Given the description of an element on the screen output the (x, y) to click on. 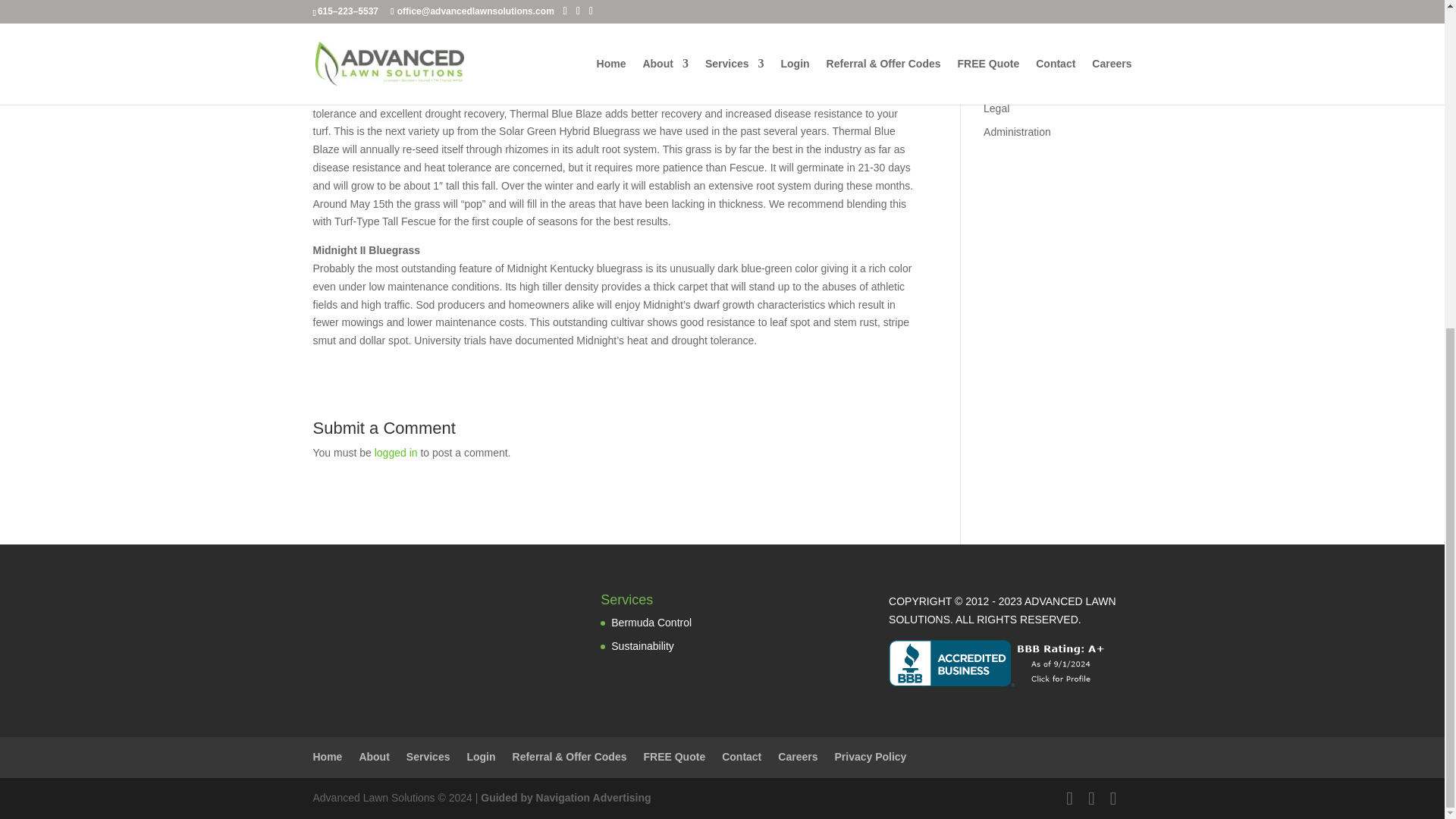
logged in (395, 452)
Search (1106, 4)
Search (1106, 4)
